Given the description of an element on the screen output the (x, y) to click on. 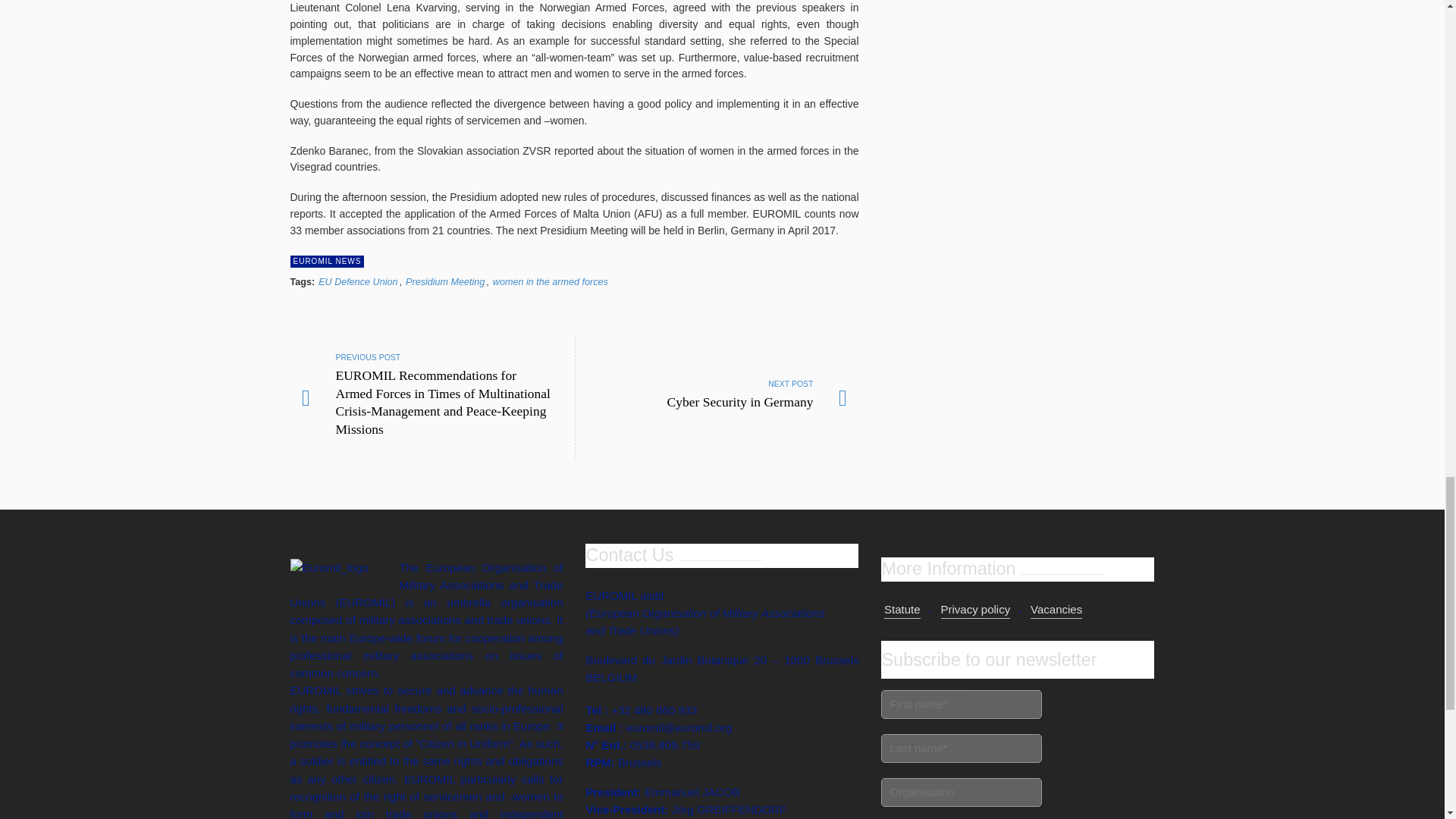
EU Defence Union (357, 281)
Organisation (717, 398)
View all posts in Euromil News (961, 792)
women in the armed forces (326, 261)
EUROMIL NEWS (550, 281)
Presidium Meeting (326, 261)
